Given the description of an element on the screen output the (x, y) to click on. 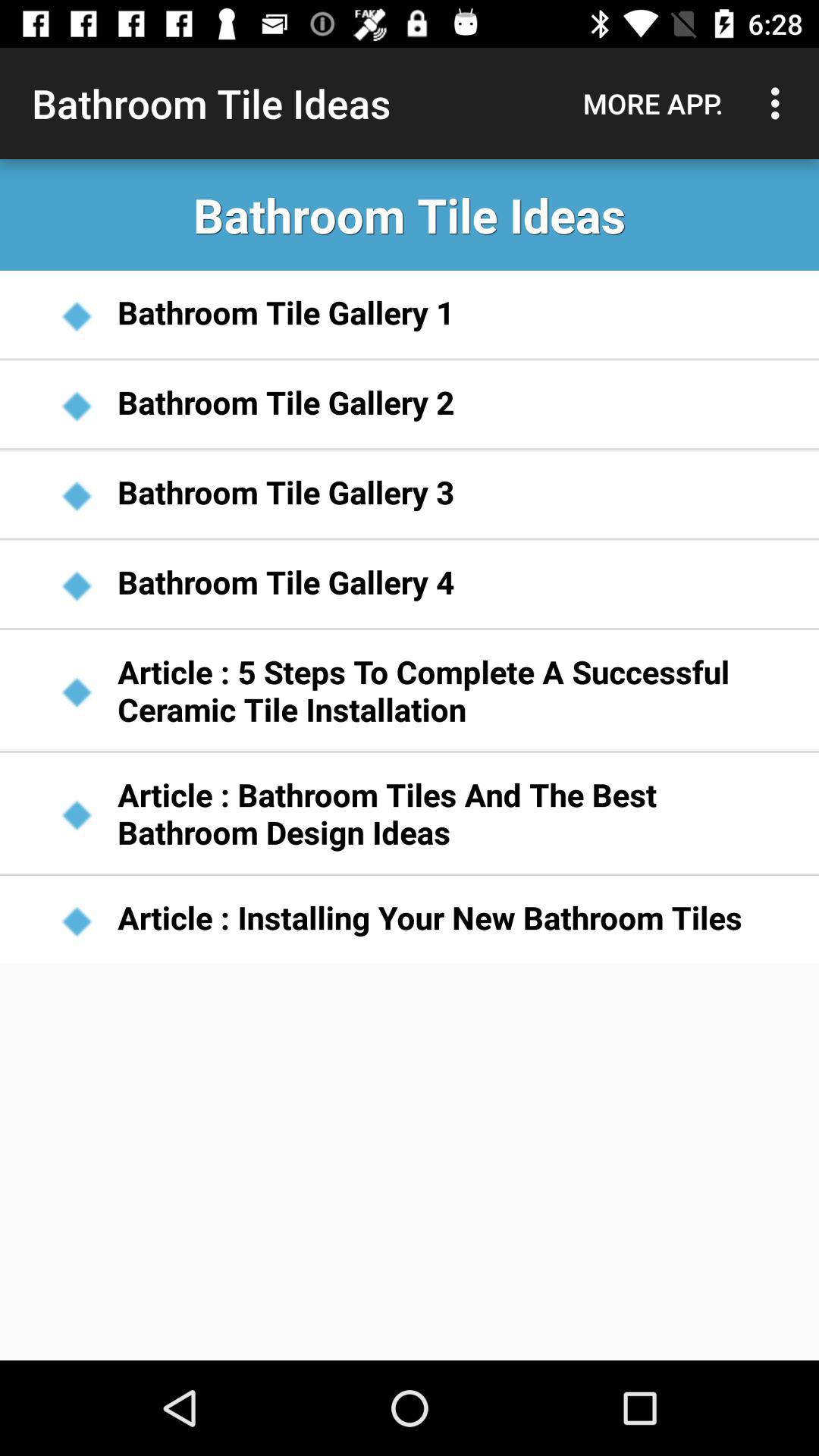
flip to more app. icon (653, 103)
